Given the description of an element on the screen output the (x, y) to click on. 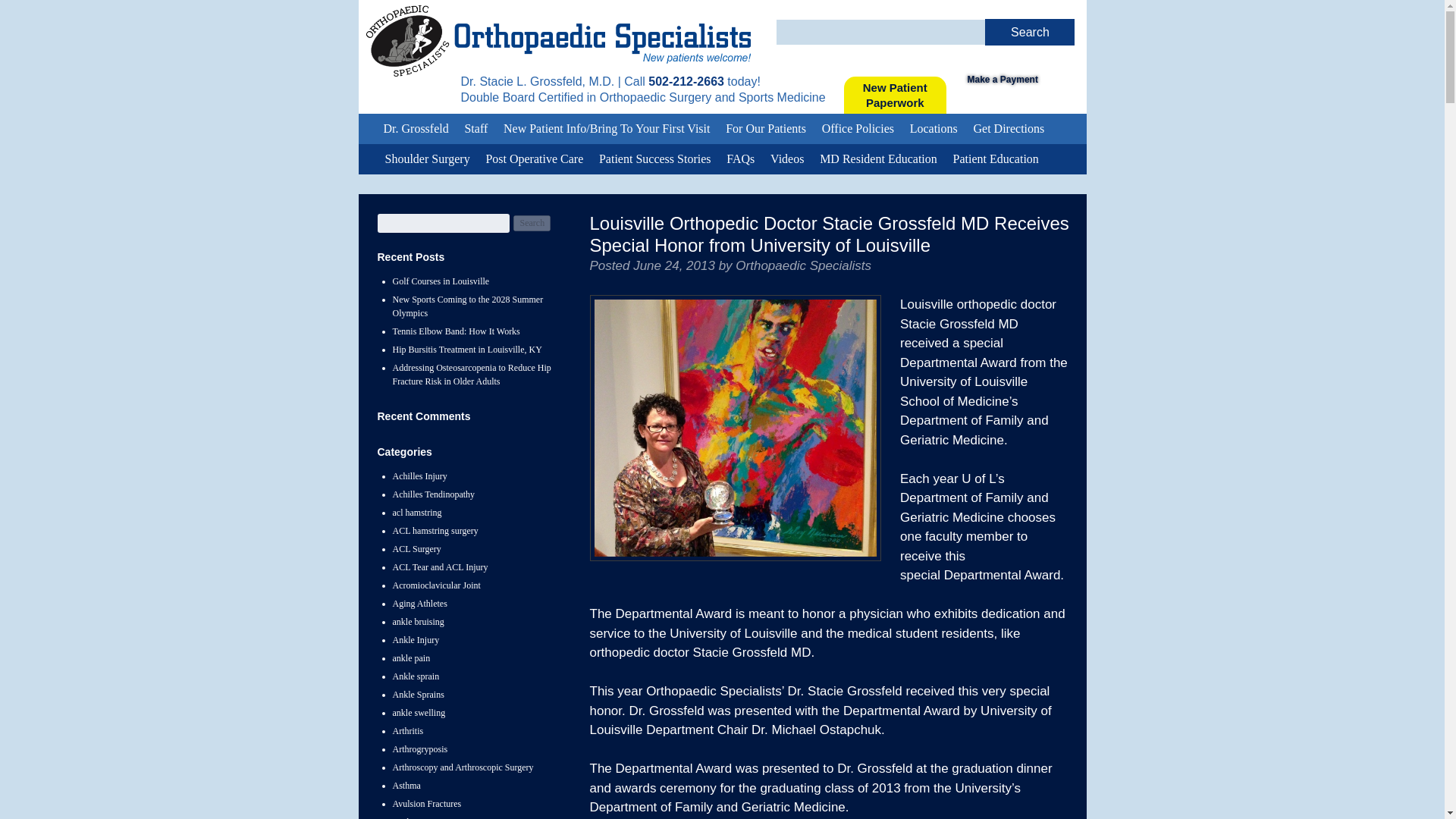
Get Directions (1009, 128)
MD Resident Education (878, 159)
Search (1029, 31)
For Our Patients (765, 128)
Search (531, 222)
Locations (933, 128)
Patient Education (996, 159)
Shoulder Surgery (895, 94)
Patient Success Stories (427, 159)
Search (654, 159)
Make a Payment (1029, 31)
Videos (1014, 78)
Dr. Grossfeld (786, 159)
Staff (415, 128)
